Given the description of an element on the screen output the (x, y) to click on. 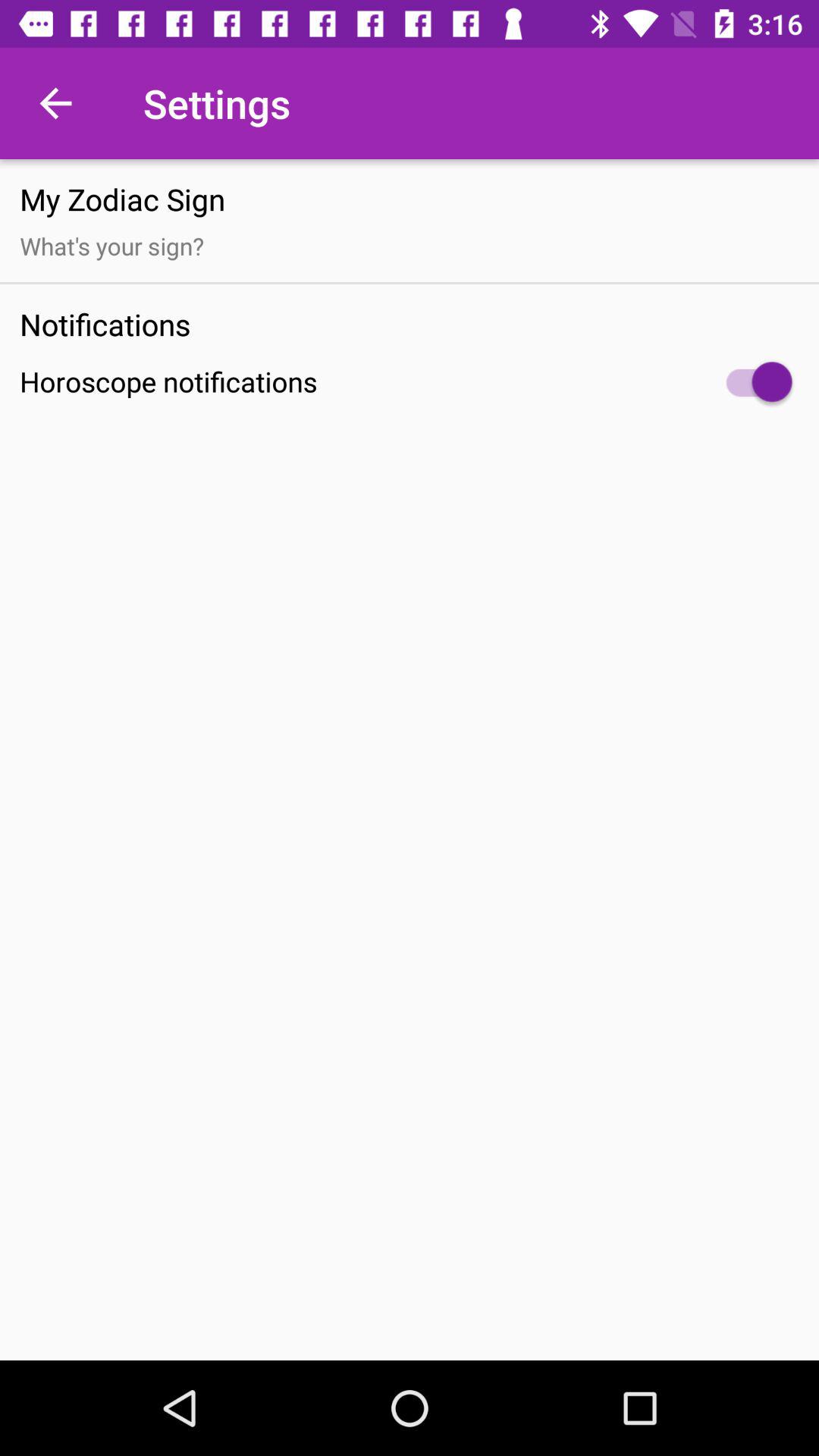
press the horoscope notifications item (409, 381)
